Given the description of an element on the screen output the (x, y) to click on. 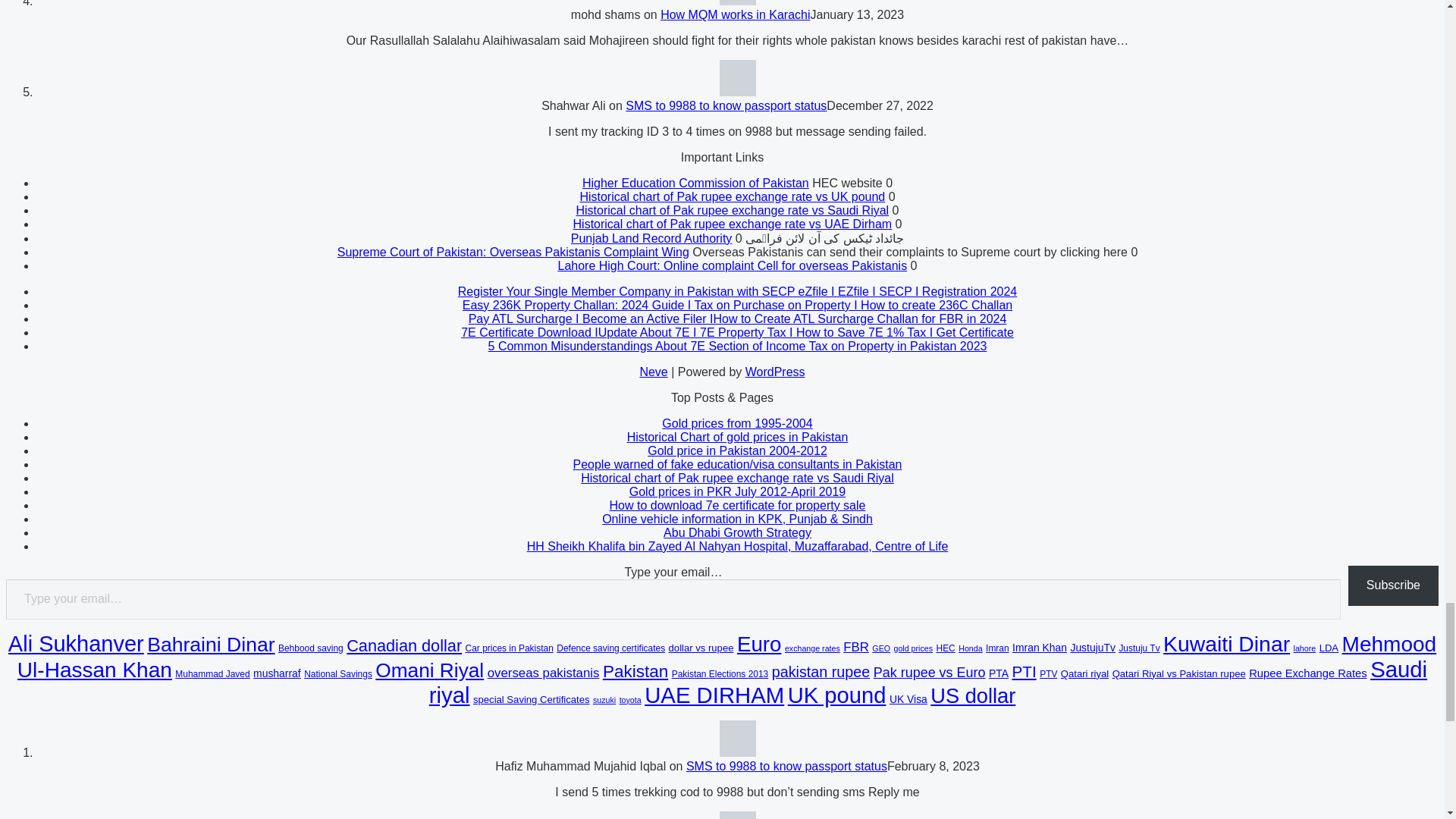
HEC website (695, 182)
